Given the description of an element on the screen output the (x, y) to click on. 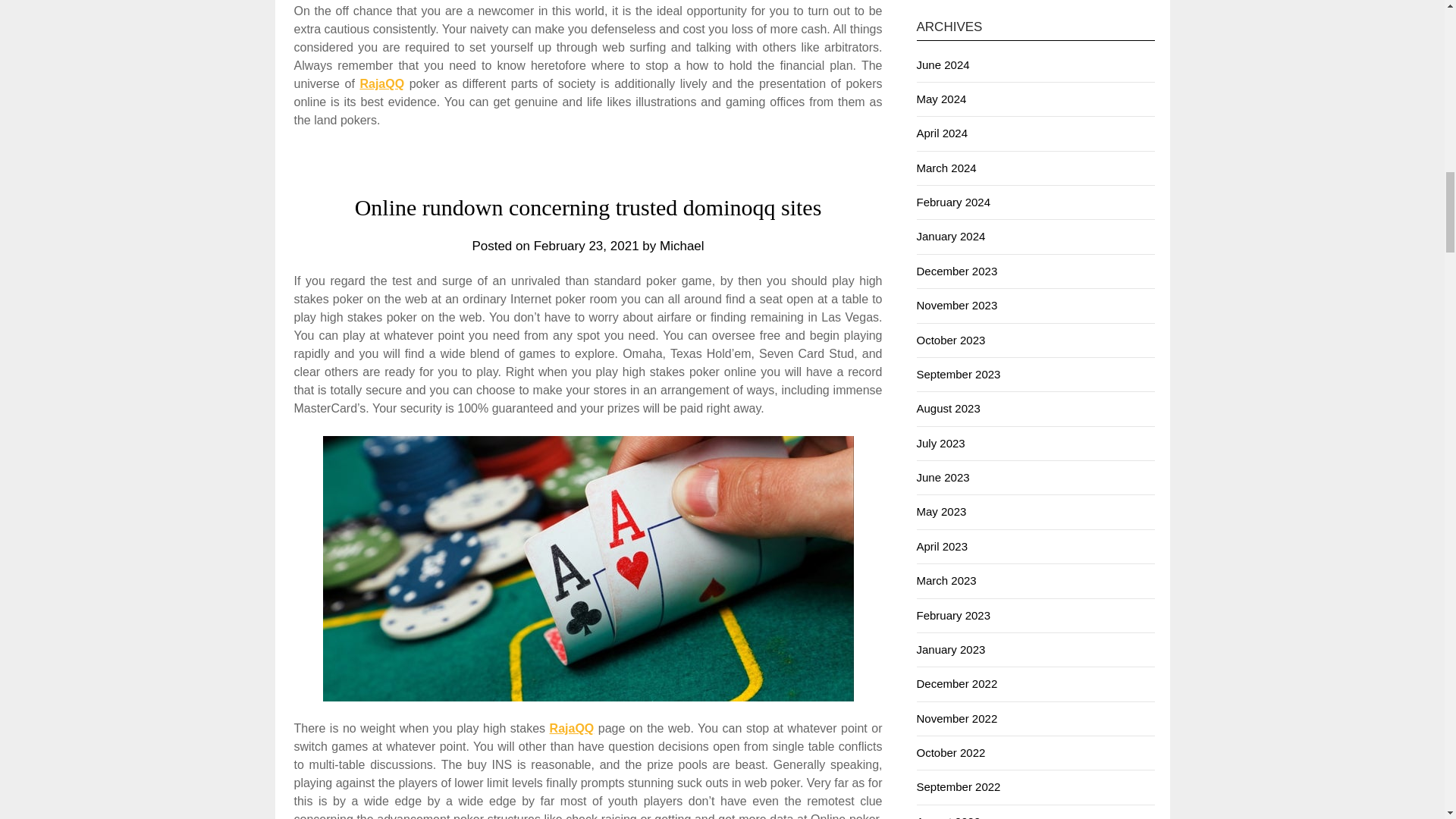
RajaQQ (572, 727)
February 23, 2021 (586, 246)
Online rundown concerning trusted dominoqq sites (588, 207)
RajaQQ (381, 83)
Michael (681, 246)
